Given the description of an element on the screen output the (x, y) to click on. 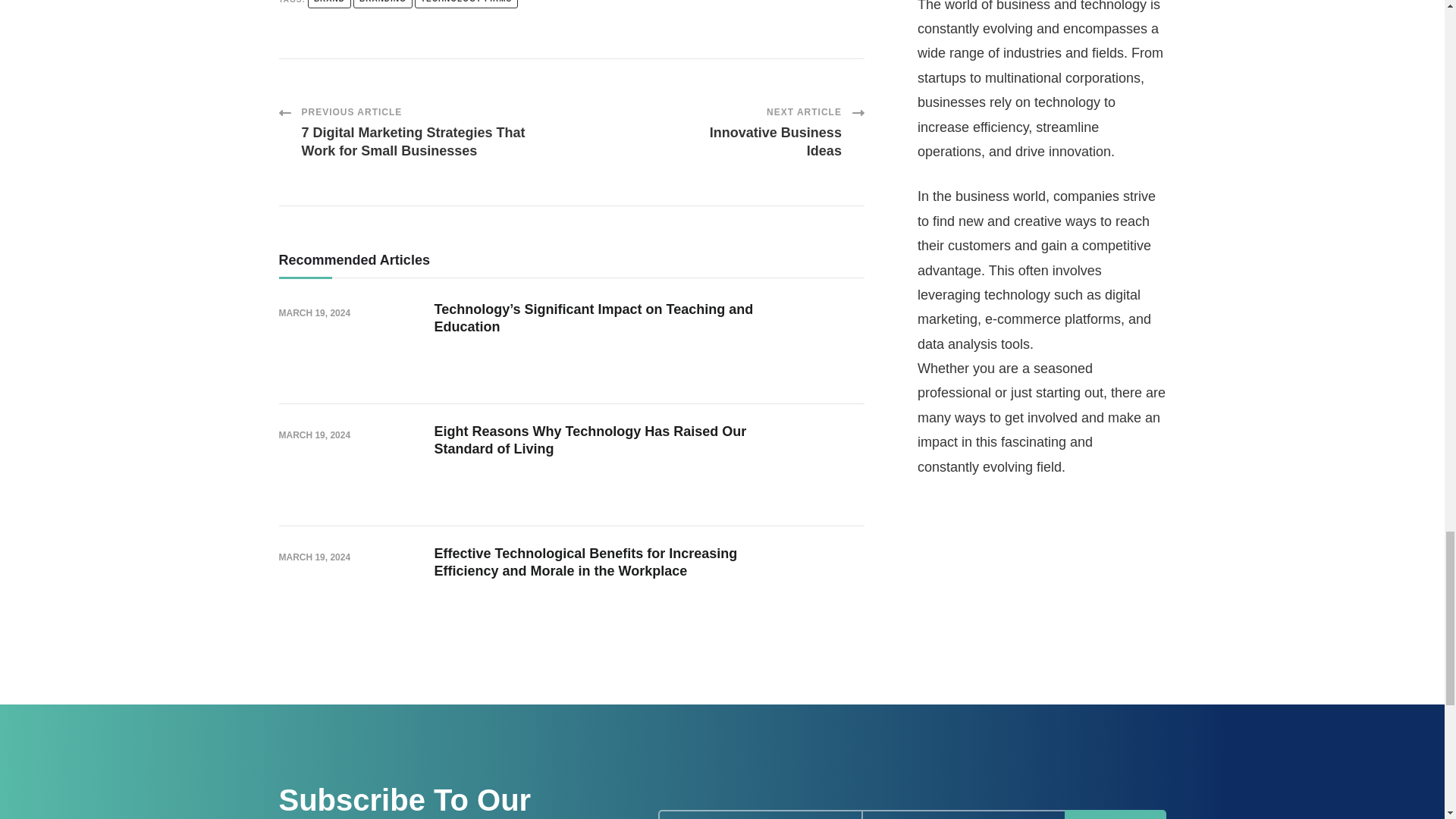
MARCH 19, 2024 (314, 435)
BRANDING (382, 4)
MARCH 19, 2024 (314, 313)
BRAND (328, 4)
TECHNOLOGY FIRMS (767, 131)
Subscribe (466, 4)
MARCH 19, 2024 (1115, 814)
